Given the description of an element on the screen output the (x, y) to click on. 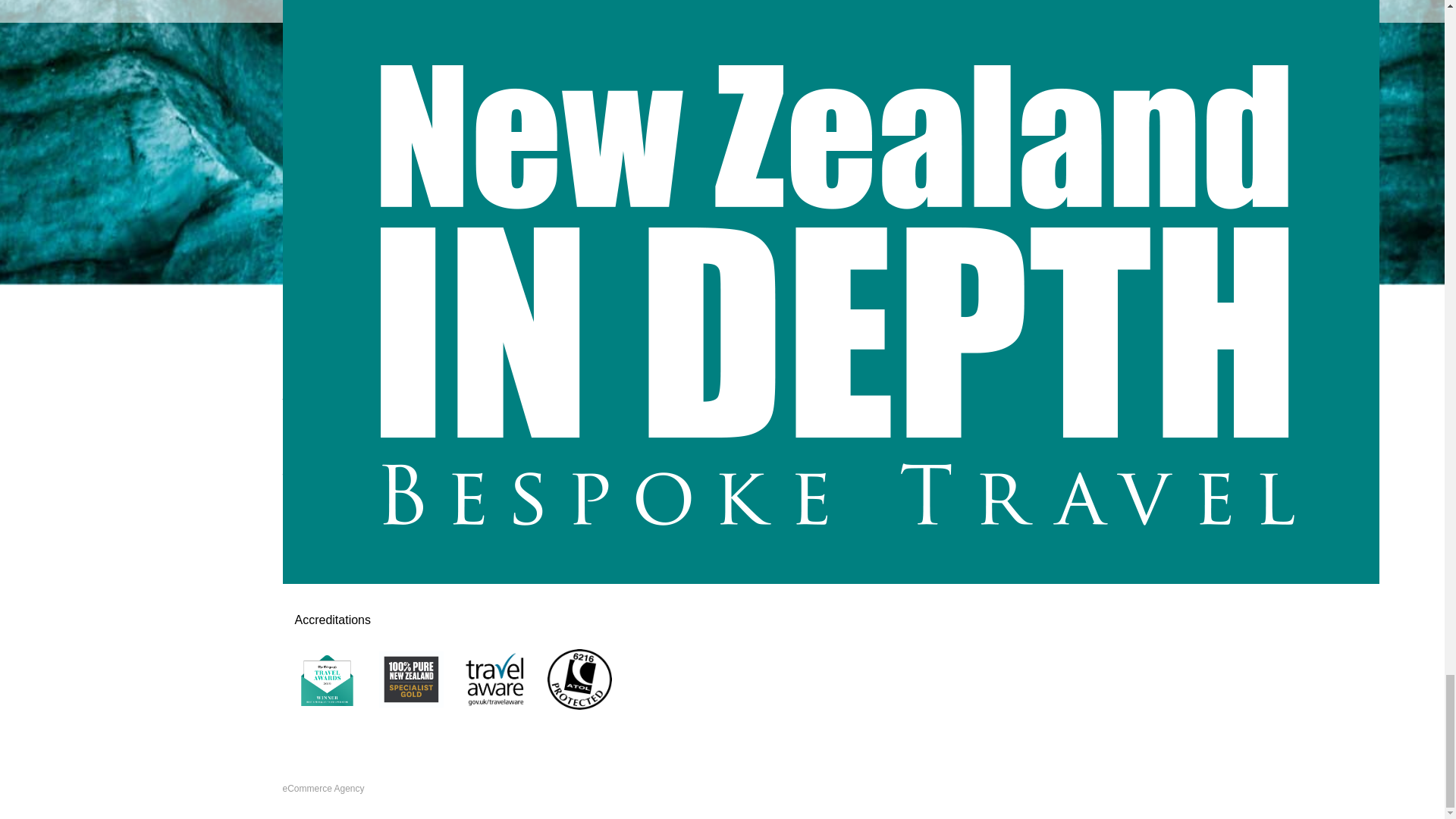
Subscribe (722, 142)
Mailchimp - email marketing made easy and fun (438, 227)
